Given the description of an element on the screen output the (x, y) to click on. 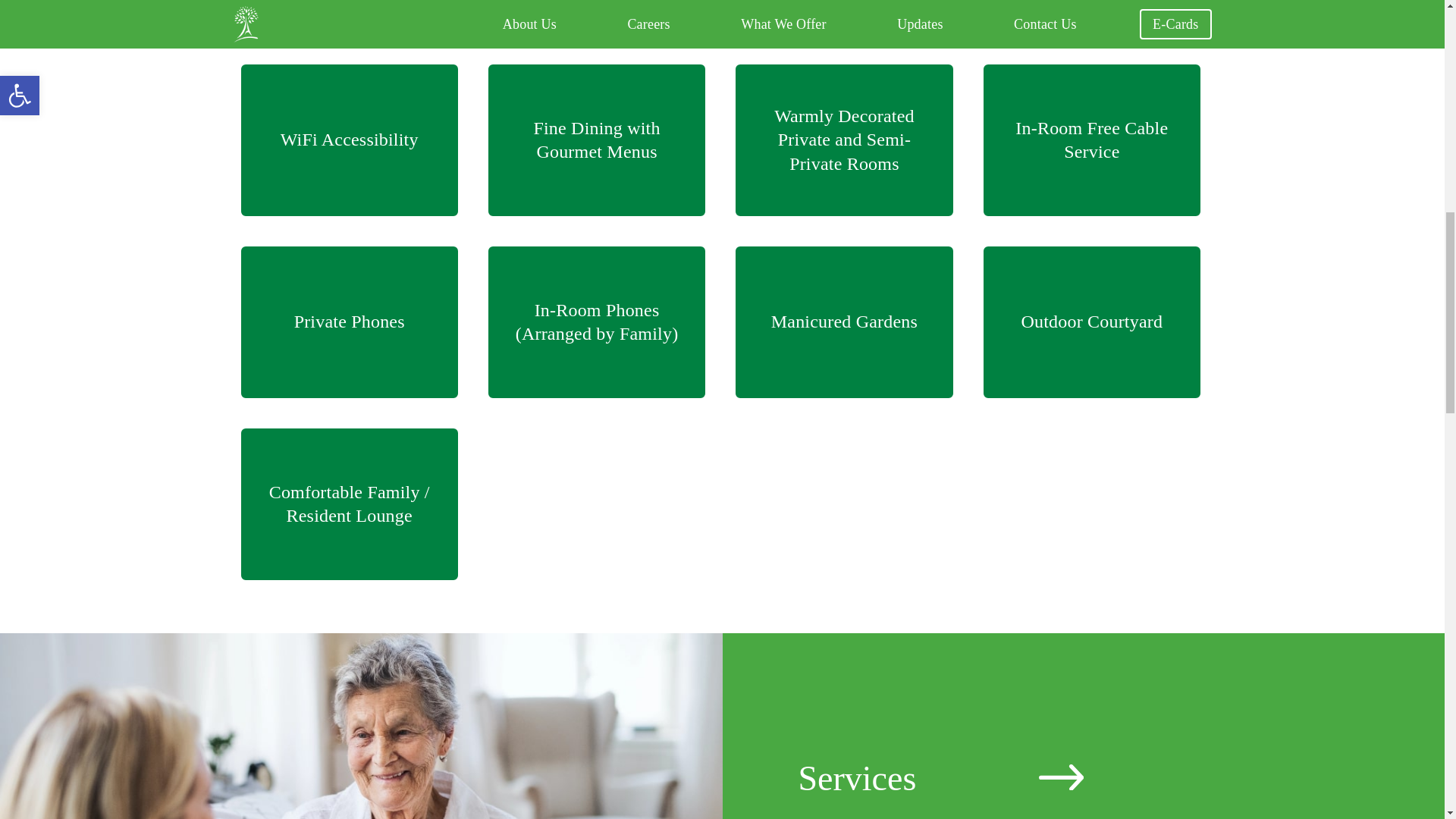
Pet Therapy (1091, 16)
Private Phones (348, 322)
In-Room Free Cable Service (1091, 140)
WiFi Accessibility (348, 140)
State-of-the-Art Therapy Equipment (843, 16)
On-Site Religious Services (596, 16)
Fine Dining with Gourmet Menus (596, 140)
Outdoor Courtyard (1091, 322)
Warmly Decorated Private and Semi-Private Rooms (843, 140)
Manicured Gardens (843, 322)
